Given the description of an element on the screen output the (x, y) to click on. 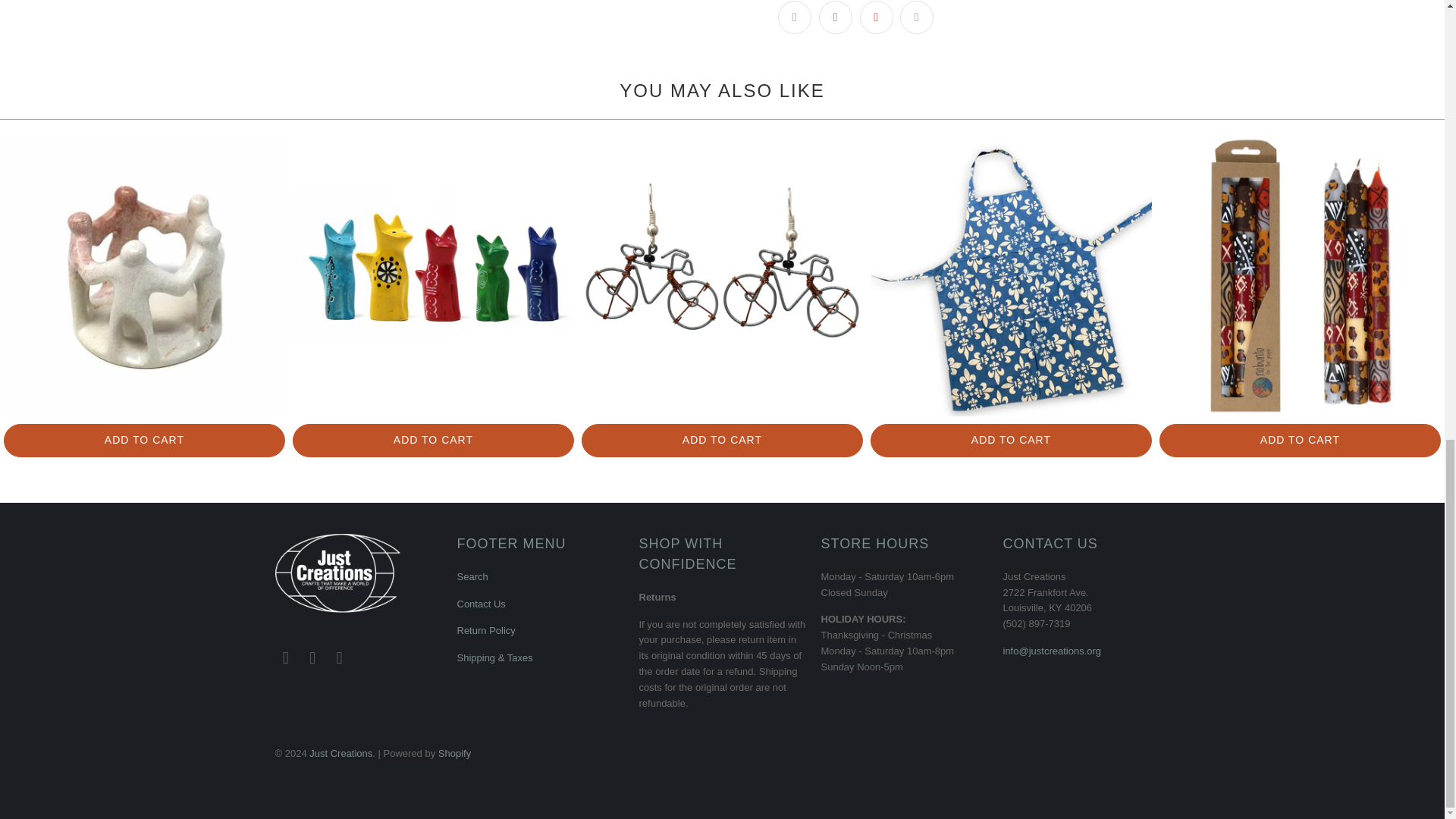
Share this on Facebook (834, 17)
Share this on Twitter (793, 17)
